Given the description of an element on the screen output the (x, y) to click on. 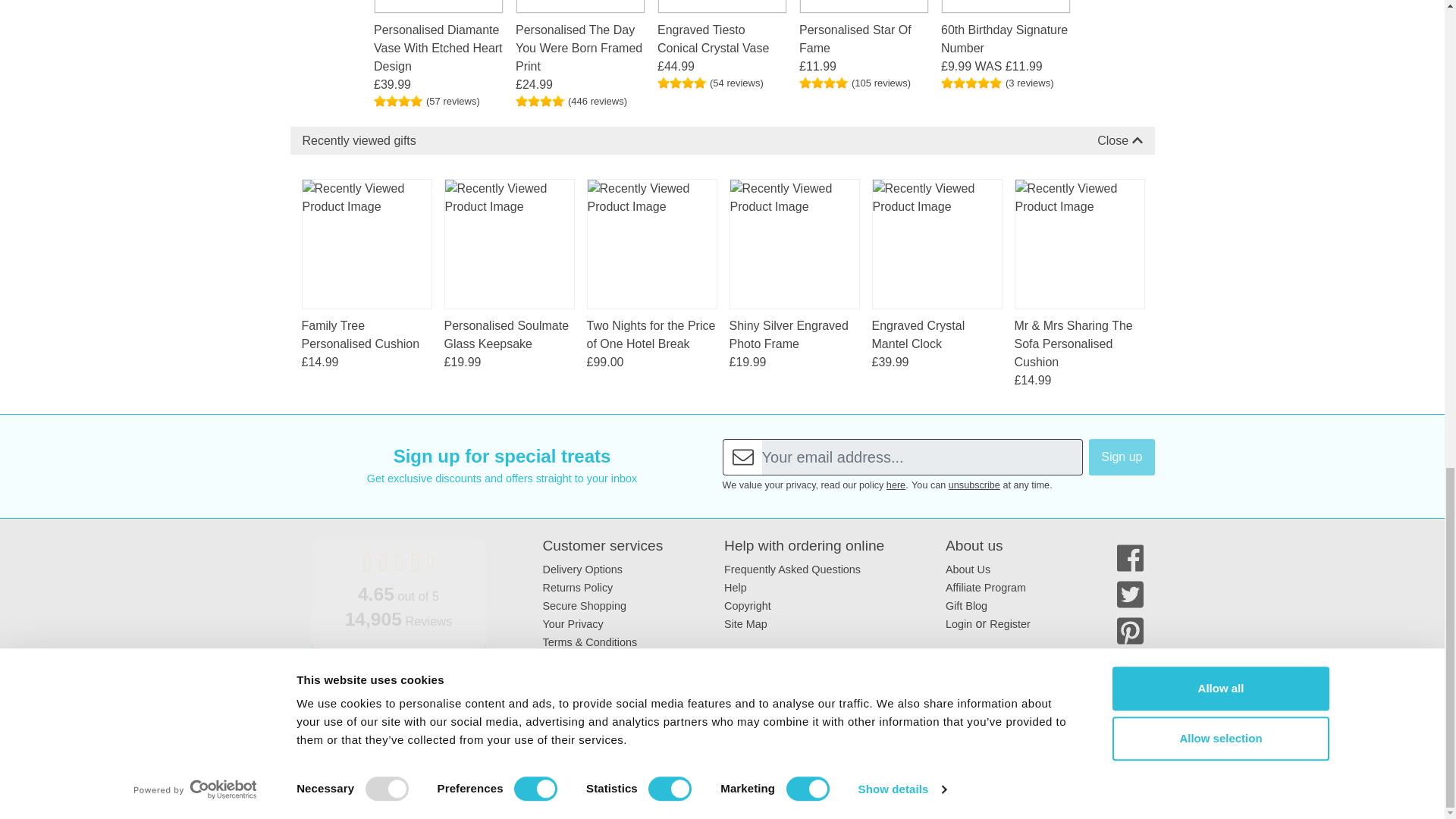
Sign up (1121, 456)
